Given the description of an element on the screen output the (x, y) to click on. 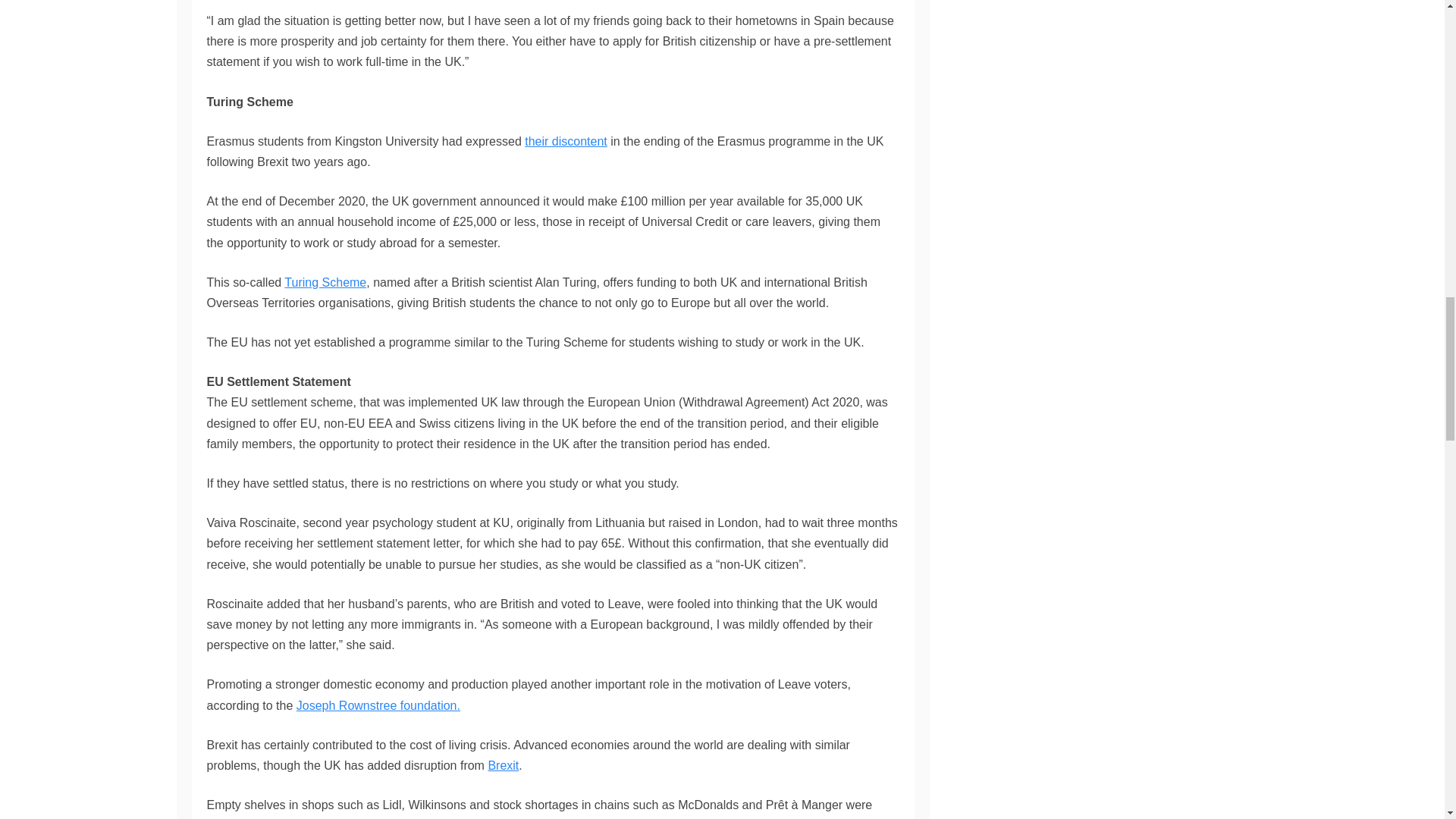
Turing Scheme (324, 282)
Joseph Rownstree foundation. (378, 705)
Brexit (502, 765)
their discontent (565, 141)
